Given the description of an element on the screen output the (x, y) to click on. 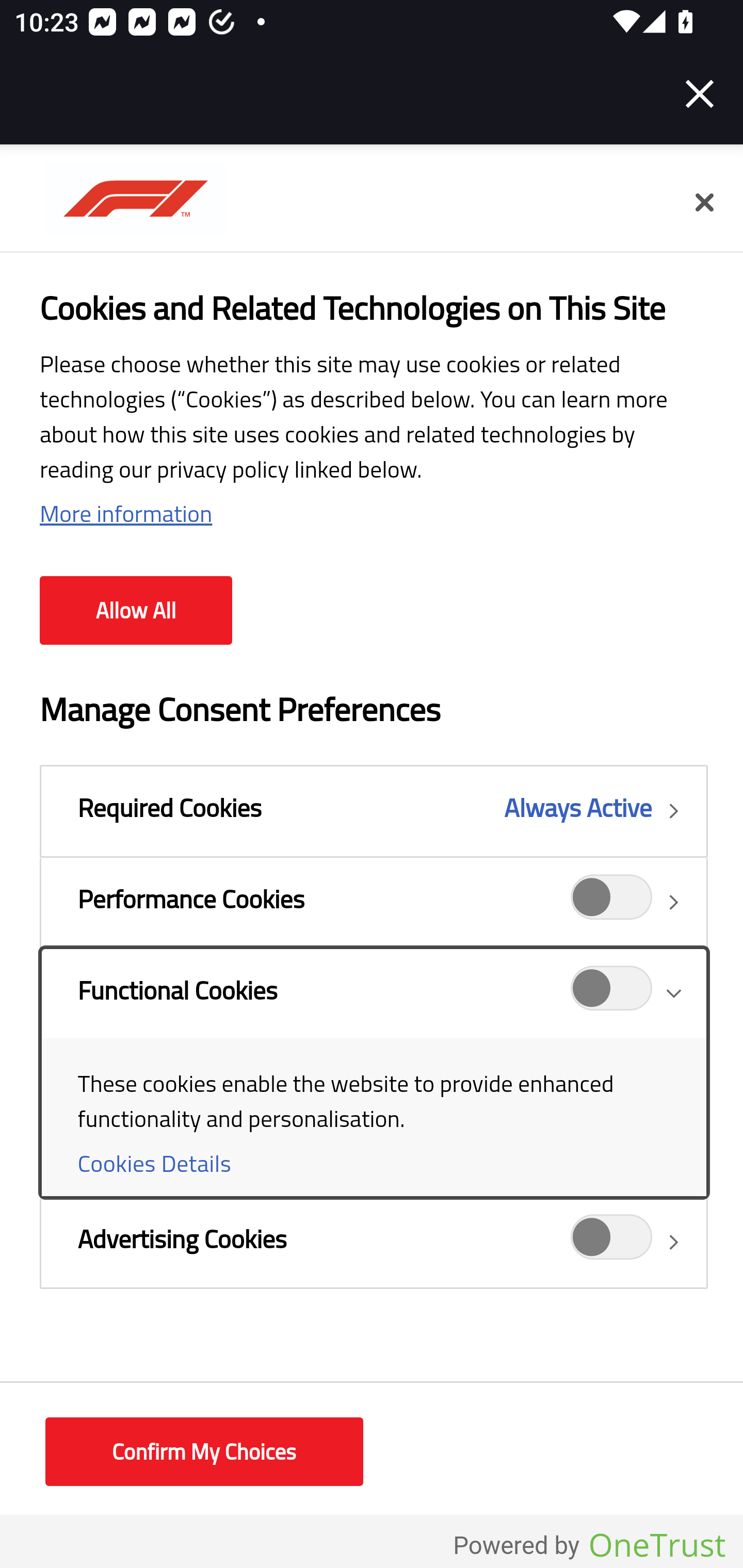
Close (699, 93)
Close (703, 203)
Allow All (135, 610)
Required Cookies (373, 811)
Performance Cookies (373, 902)
Performance Cookies (611, 902)
Functional Cookies (373, 1071)
Functional Cookies (611, 993)
Advertising Cookies (373, 1242)
Advertising Cookies (611, 1242)
Confirm My Choices (203, 1452)
Powered by OneTrust Opens in a new Tab (589, 1546)
